Given the description of an element on the screen output the (x, y) to click on. 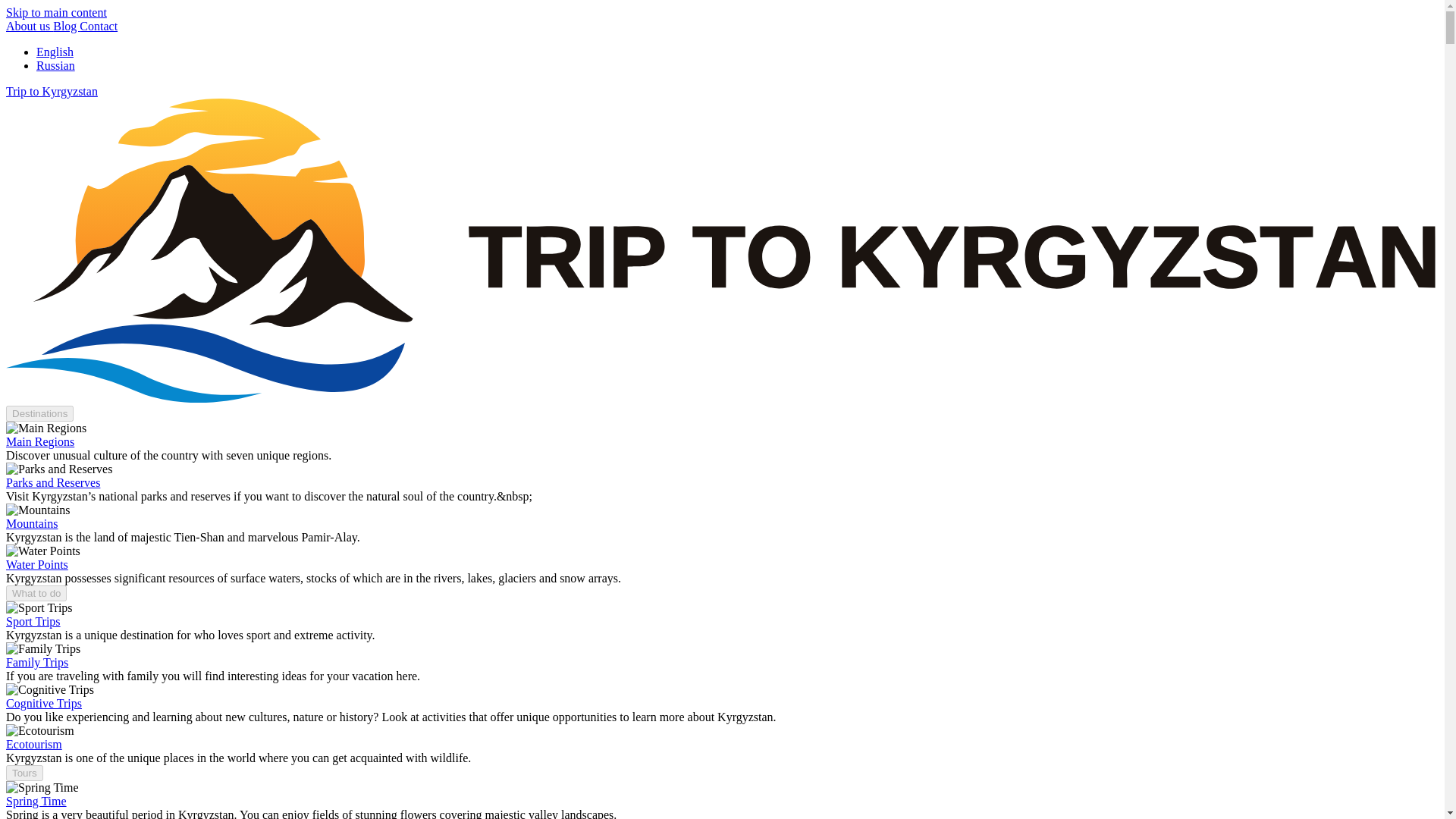
Contact (98, 25)
Skip to main content (55, 11)
Blog (66, 25)
About us (28, 25)
Tours (24, 772)
English (55, 51)
What to do (35, 593)
Destinations (39, 413)
Russian (55, 65)
